Given the description of an element on the screen output the (x, y) to click on. 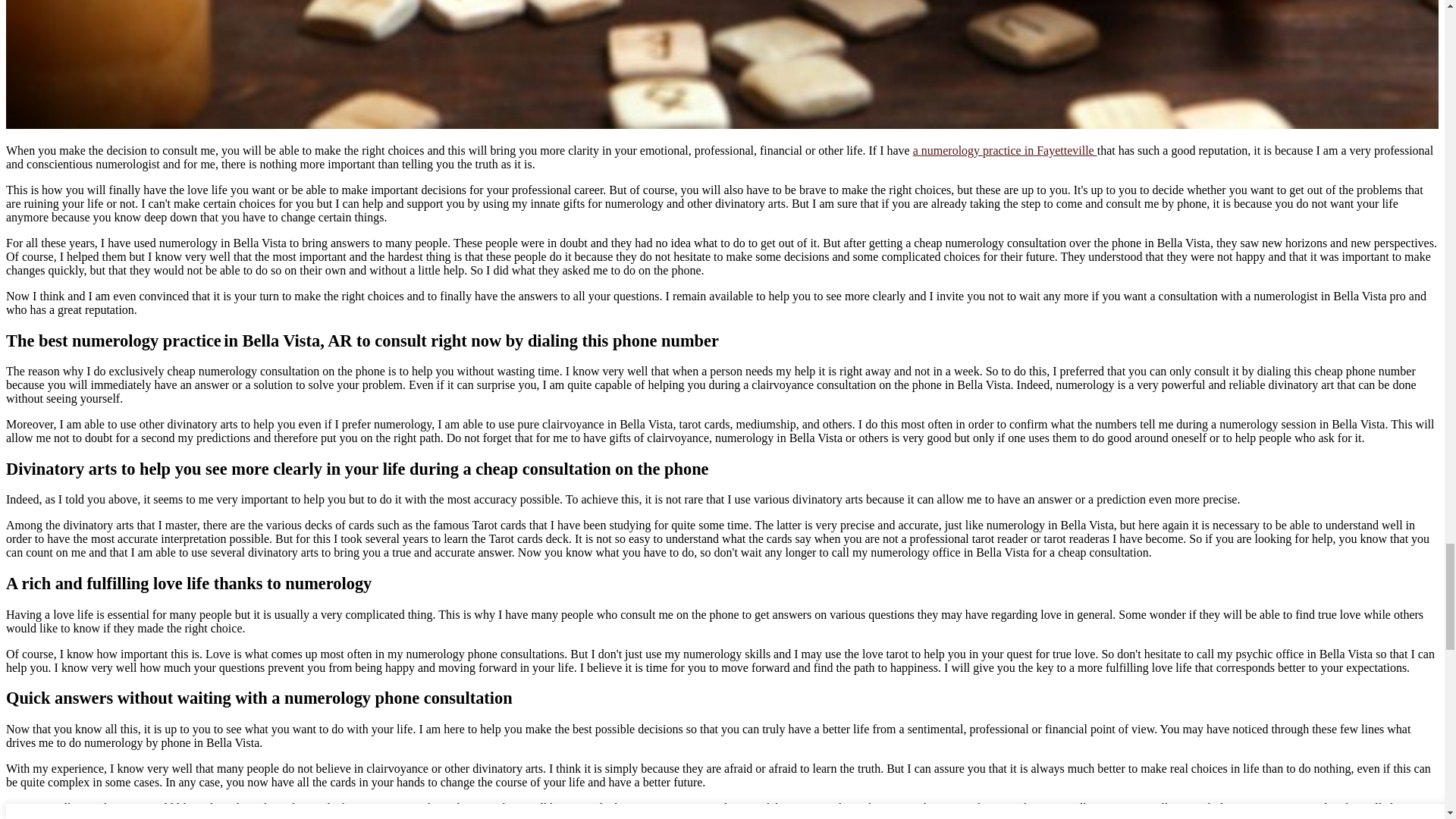
a numerology practice in Fayetteville (1004, 150)
a reputable numerologist in Fort Smith (1125, 816)
